Given the description of an element on the screen output the (x, y) to click on. 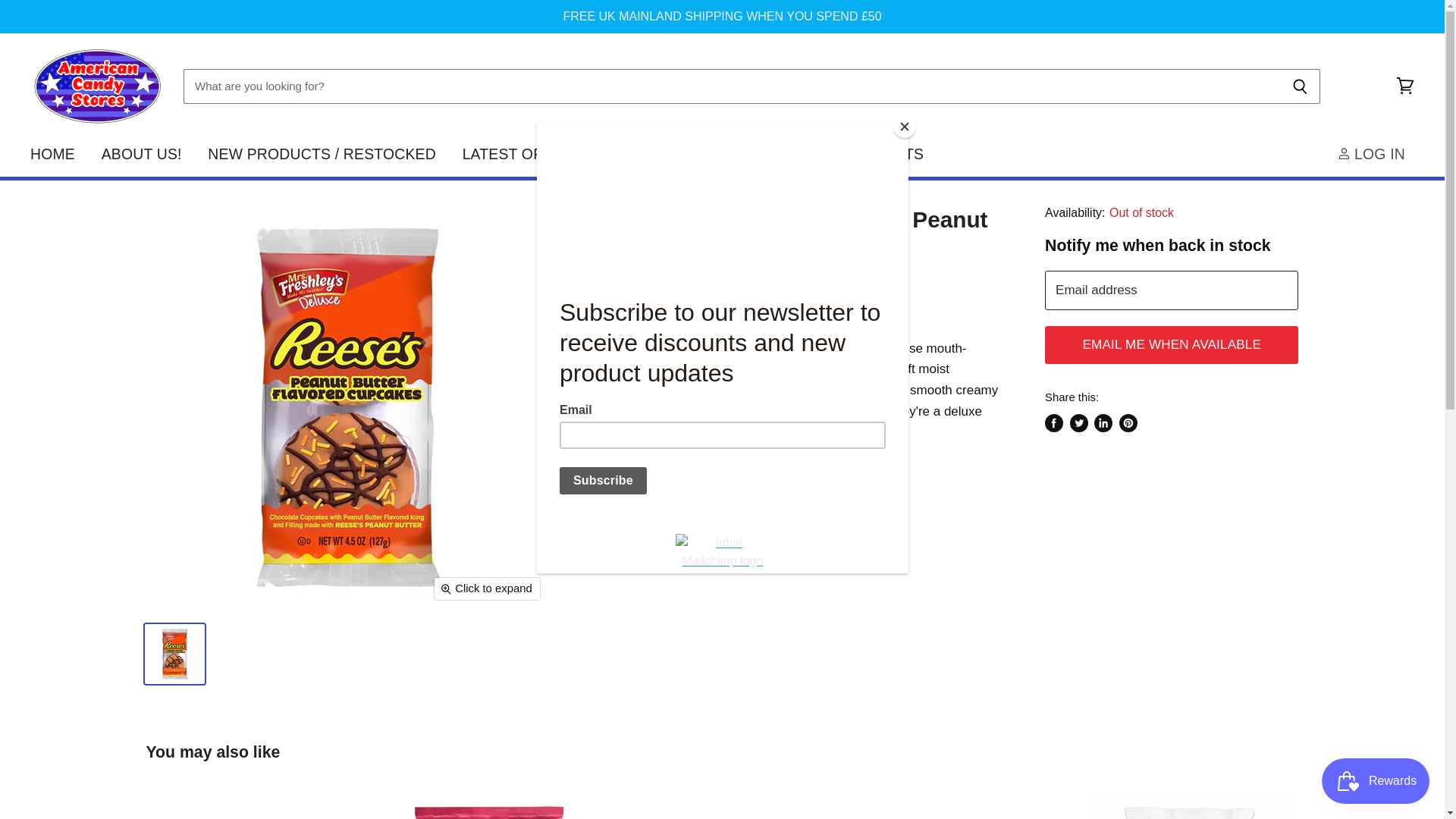
ACCOUNT ICON (1344, 153)
Smile.io Rewards Program Launcher (1375, 780)
ABOUT US! (141, 154)
Share on Facebook (1053, 423)
Click to expand (486, 588)
Tweet on Twitter (1078, 423)
Pin on Pinterest (1128, 423)
Share on LinkedIn (1103, 423)
HOME (51, 154)
ACCOUNT ICON LOG IN (1374, 154)
FAQS (627, 154)
CONTACT US (722, 154)
SHIPPING COSTS (861, 154)
View cart (1405, 86)
EMAIL ME WHEN AVAILABLE (1171, 344)
